Given the description of an element on the screen output the (x, y) to click on. 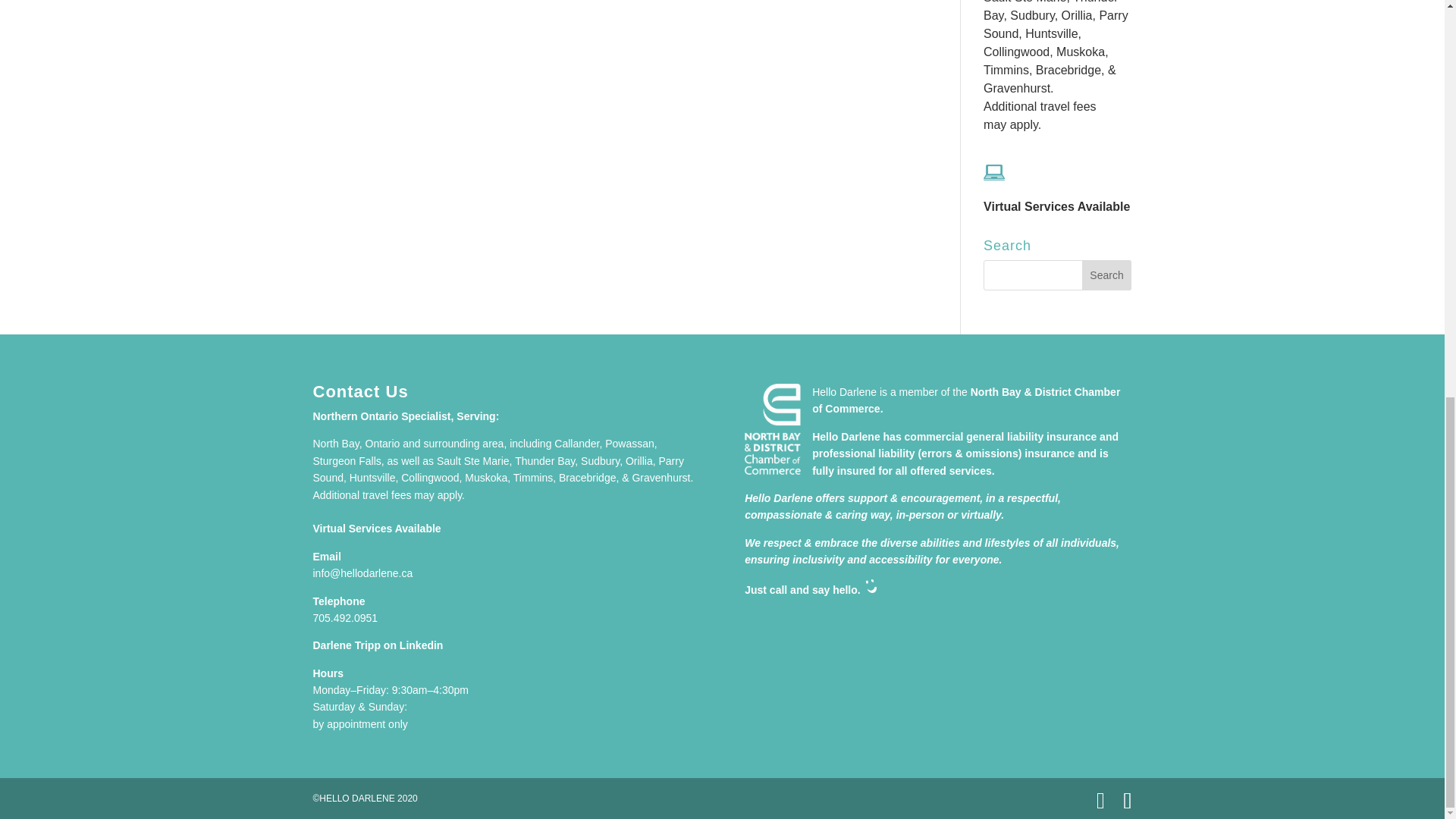
Search (1106, 275)
